Given the description of an element on the screen output the (x, y) to click on. 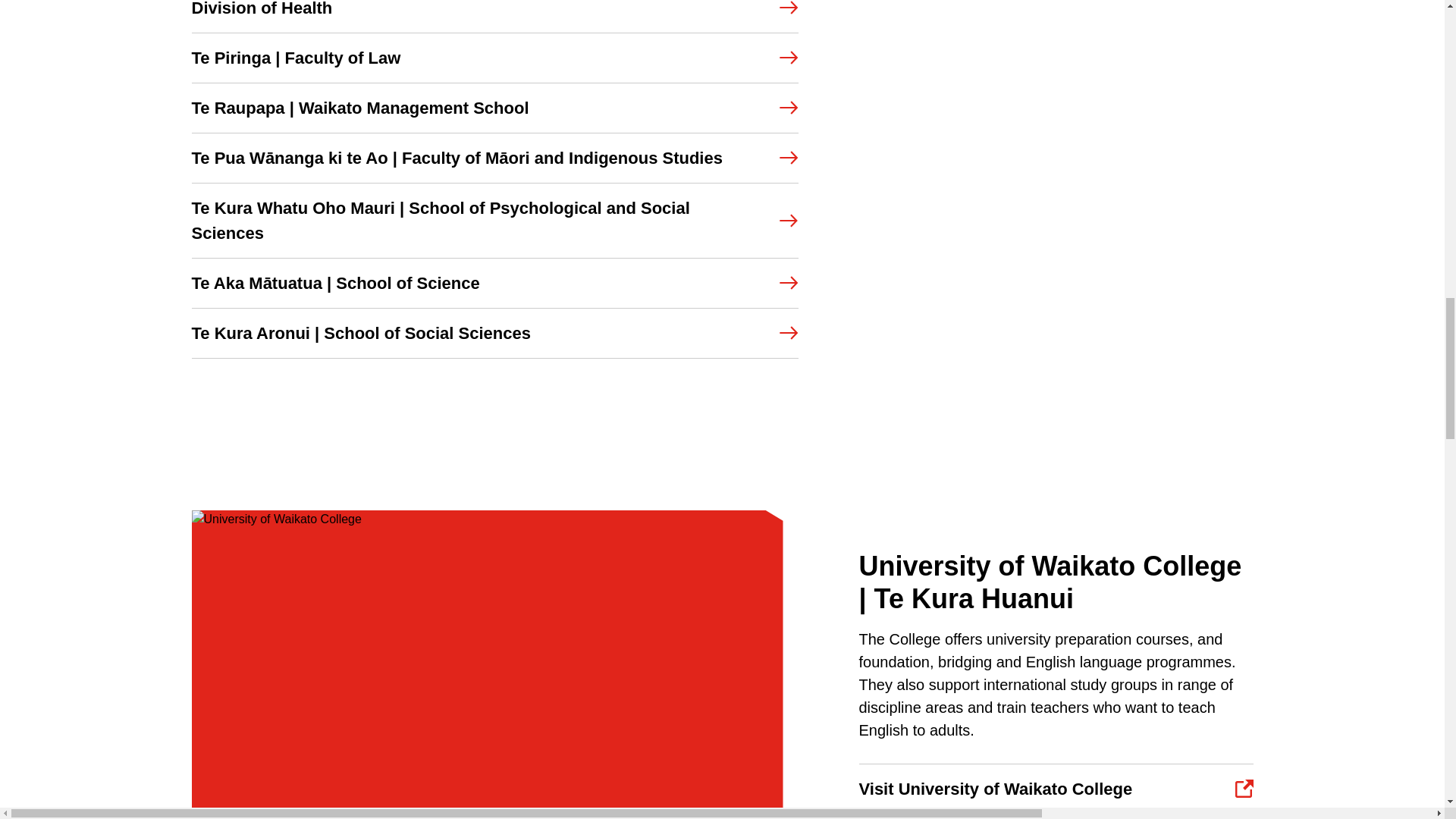
Visit University of Waikato College (1055, 788)
Visit University of Waikato College (1055, 788)
Division of Health (493, 16)
Division of Health (493, 16)
